Given the description of an element on the screen output the (x, y) to click on. 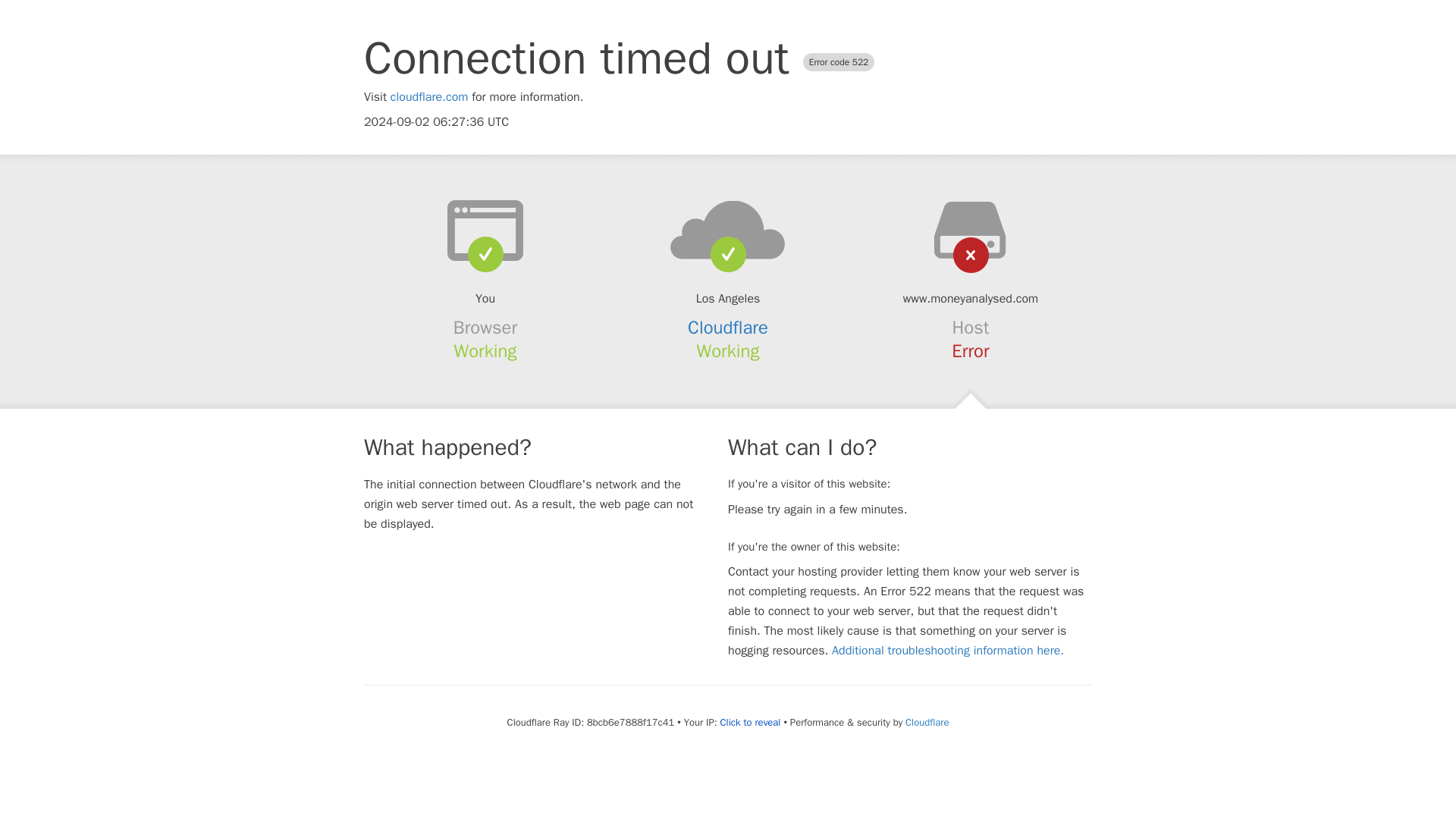
Additional troubleshooting information here. (947, 650)
Click to reveal (750, 722)
Cloudflare (727, 327)
Cloudflare (927, 721)
cloudflare.com (429, 96)
